Given the description of an element on the screen output the (x, y) to click on. 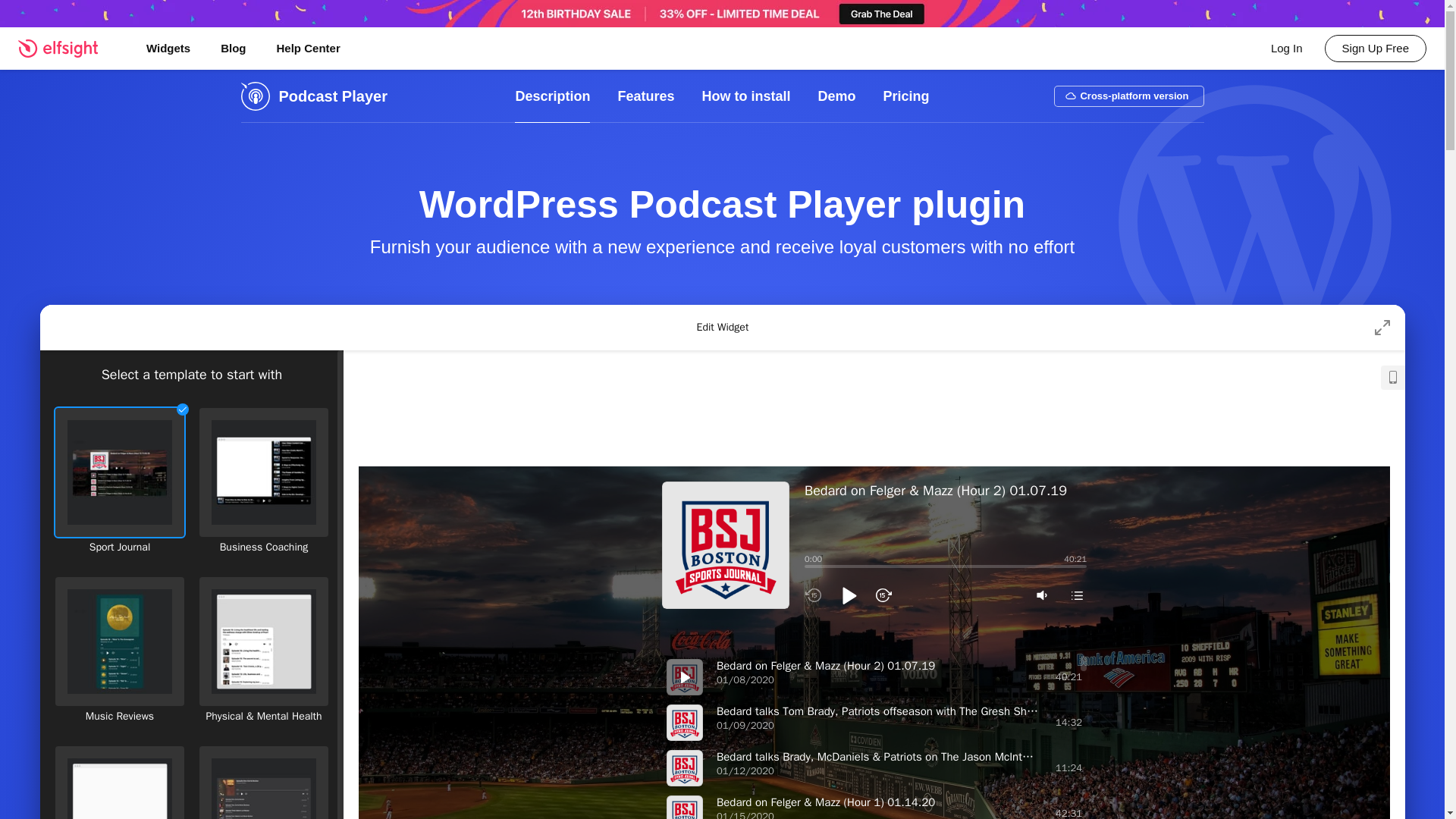
Elfsight - Premium Plugins For Websites (66, 48)
Widgets (168, 48)
Full Screen (1381, 327)
